Given the description of an element on the screen output the (x, y) to click on. 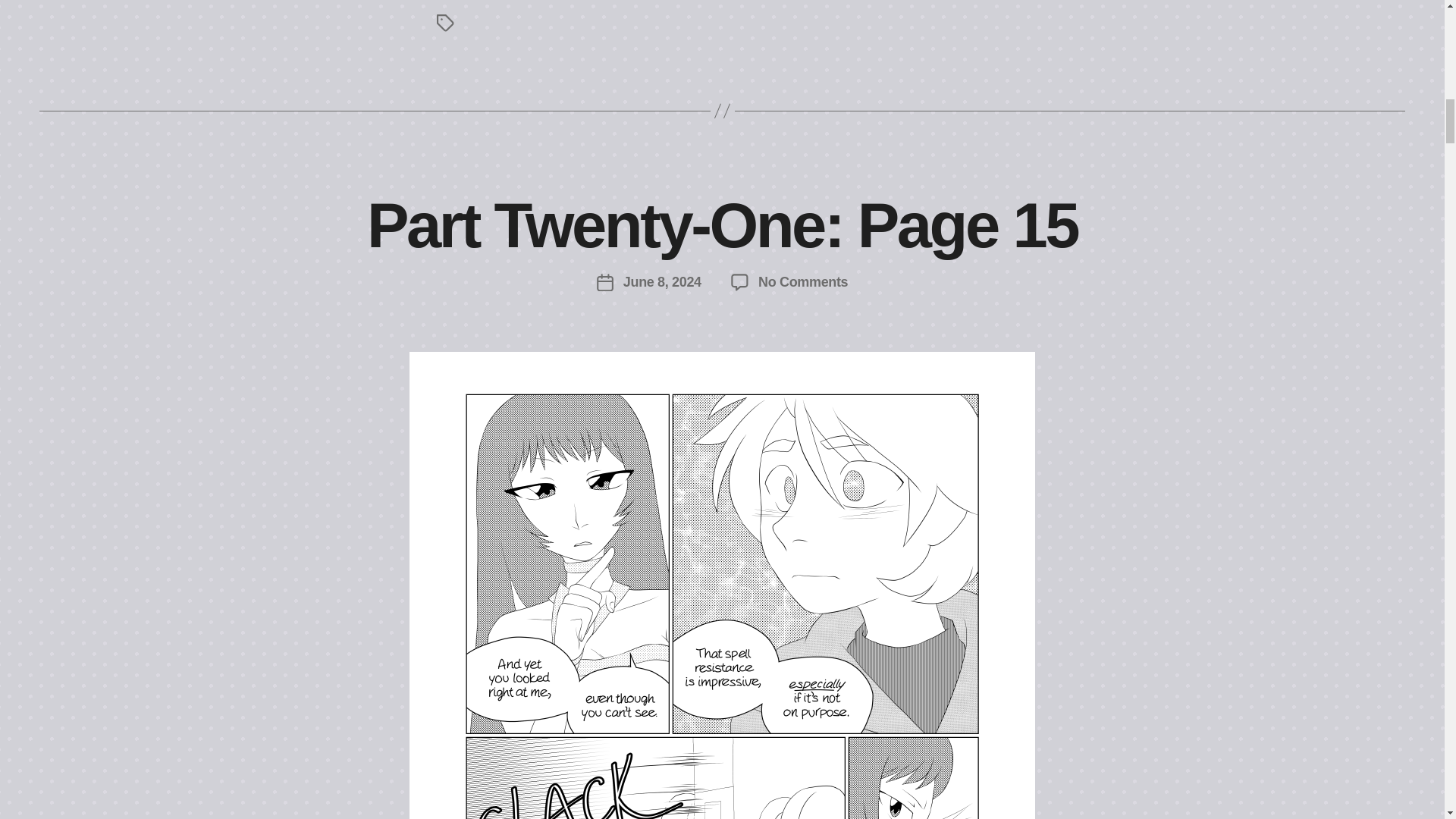
Part Twenty-One: Page 15 (721, 225)
June 8, 2024 (802, 281)
